Given the description of an element on the screen output the (x, y) to click on. 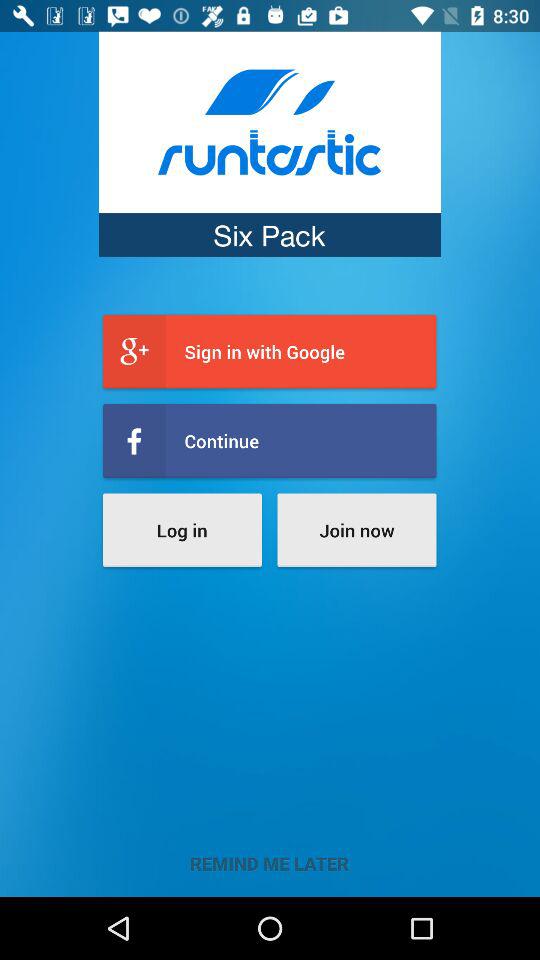
flip until log in icon (182, 529)
